Given the description of an element on the screen output the (x, y) to click on. 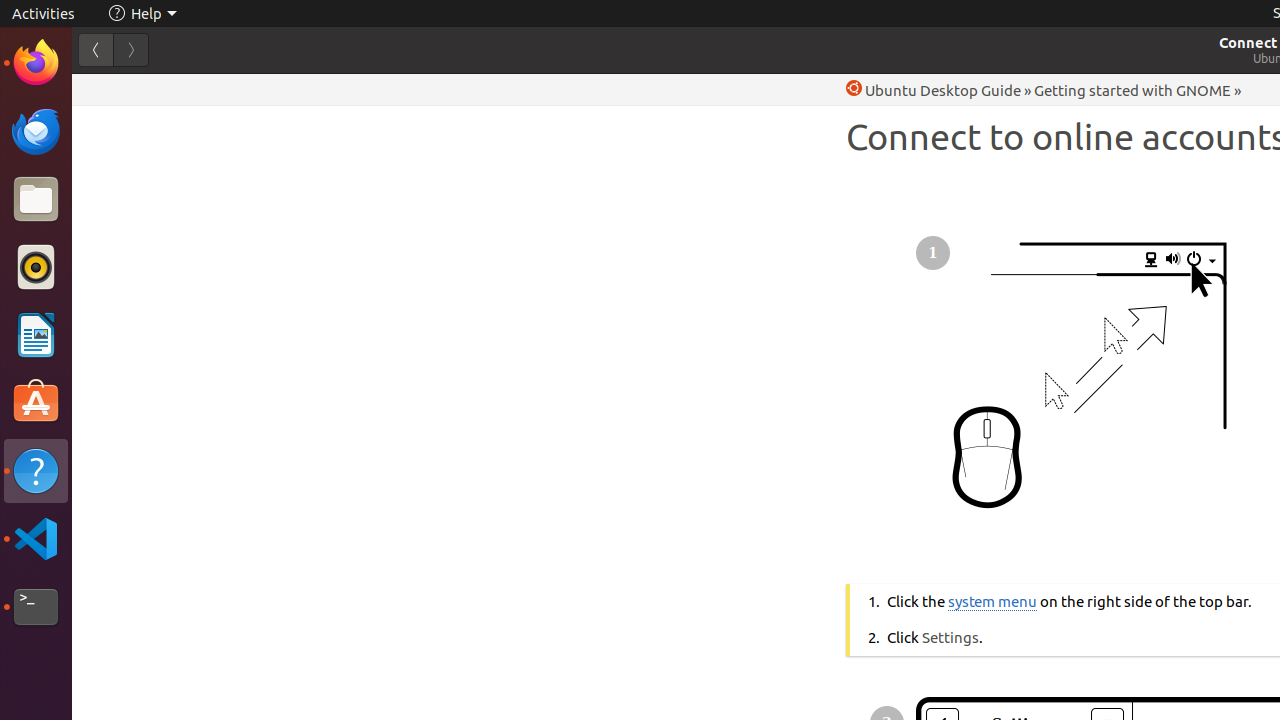
Help Ubuntu Desktop Guide Element type: link (933, 89)
Firefox Web Browser Element type: push-button (36, 63)
IsaHelpMain.desktop Element type: label (133, 300)
